Given the description of an element on the screen output the (x, y) to click on. 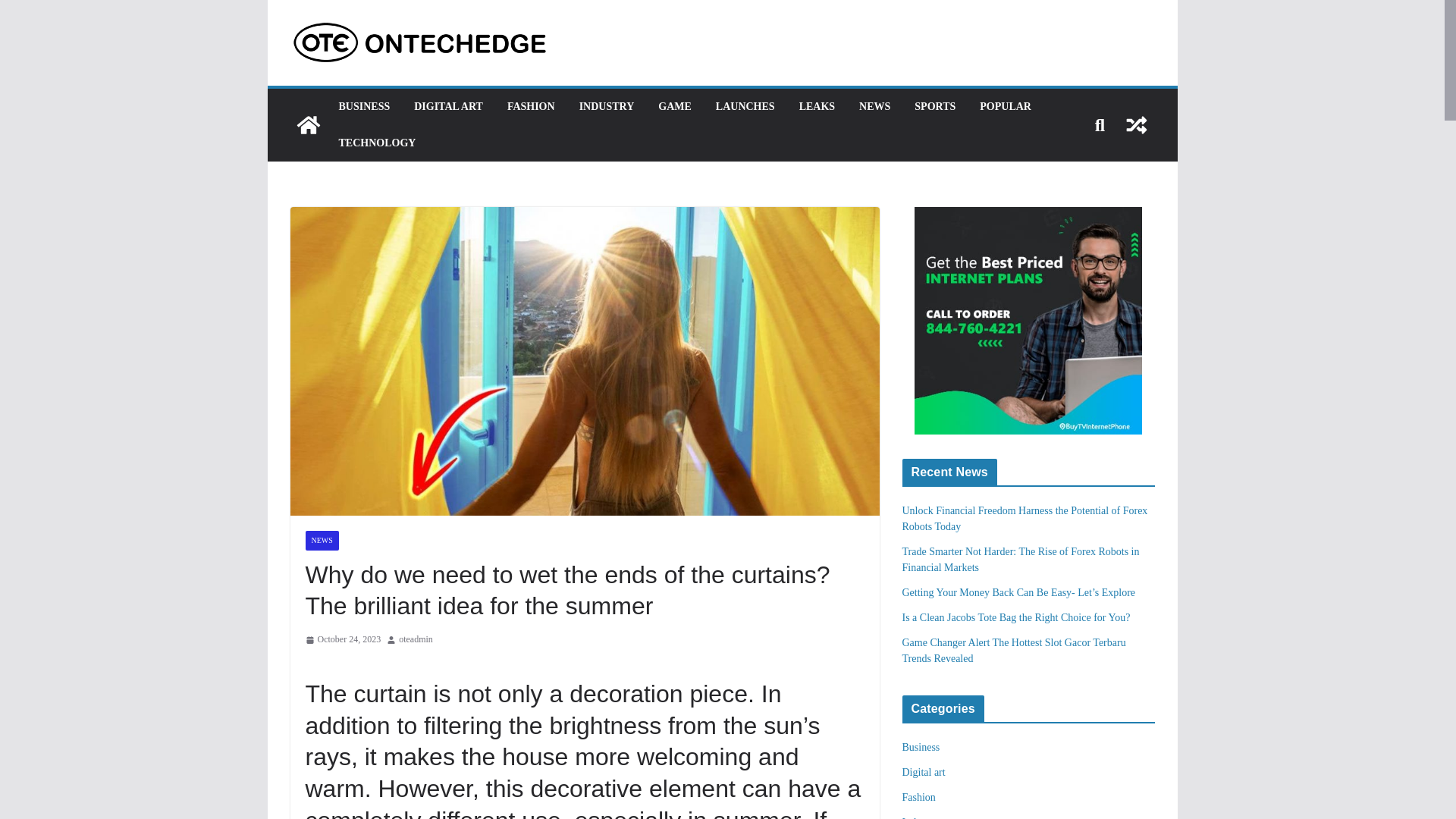
POPULAR (1004, 106)
INDUSTRY (606, 106)
SPORTS (934, 106)
7:56 pm (342, 639)
oteadmin (415, 639)
October 24, 2023 (342, 639)
OnTechEdge (307, 125)
NEWS (874, 106)
